Given the description of an element on the screen output the (x, y) to click on. 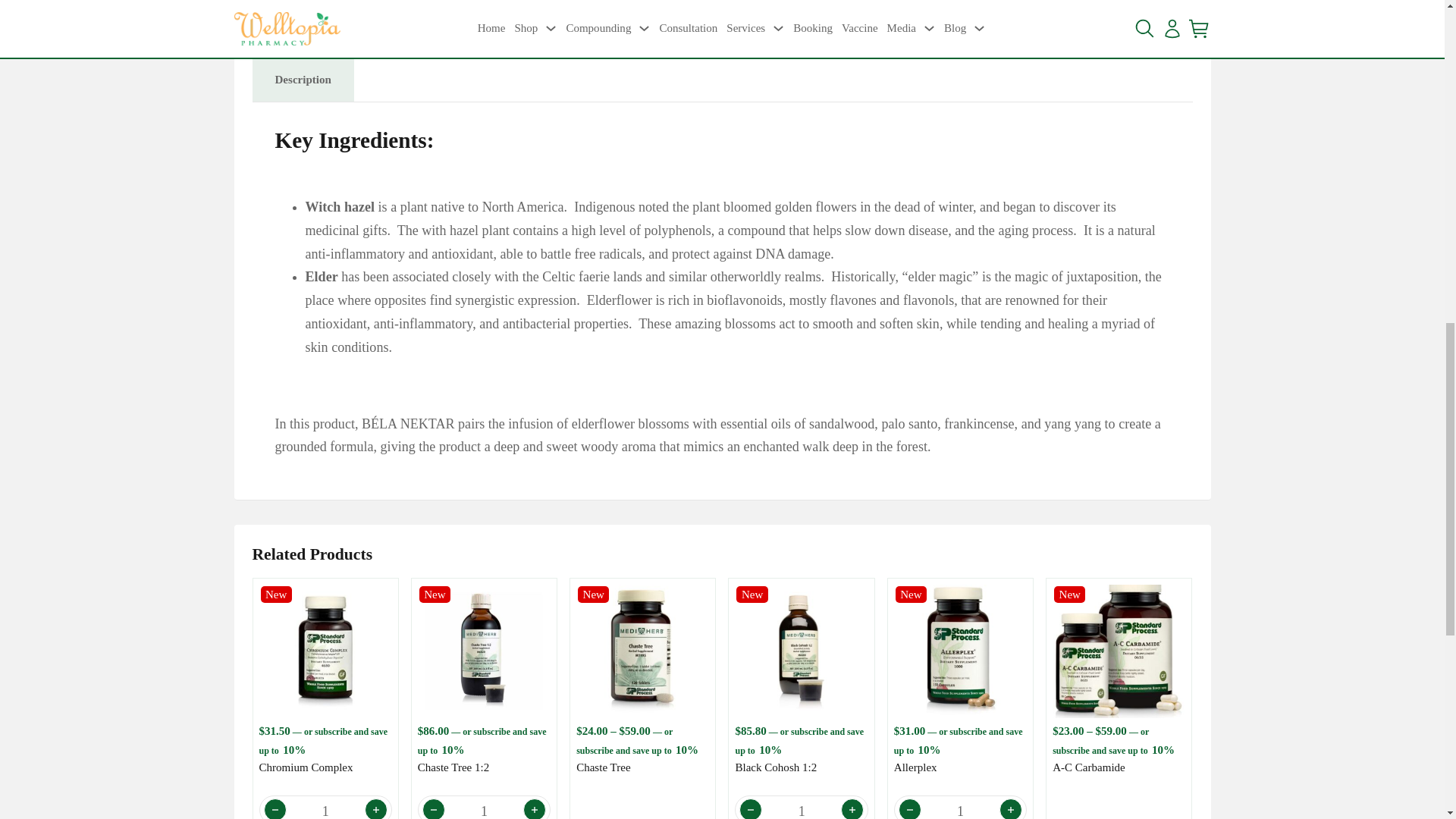
1 (325, 807)
1 (800, 807)
1 (483, 807)
1 (959, 807)
